Given the description of an element on the screen output the (x, y) to click on. 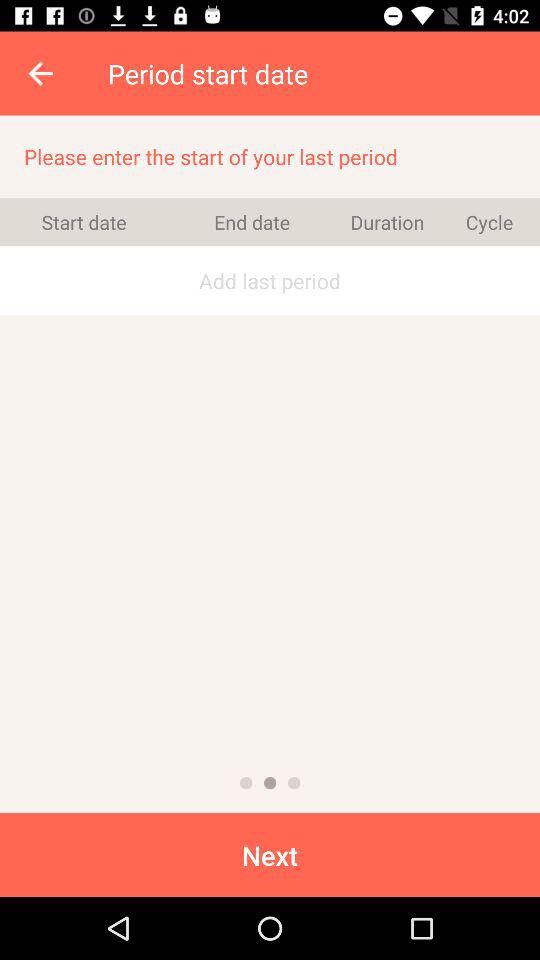
access first page (246, 783)
